Given the description of an element on the screen output the (x, y) to click on. 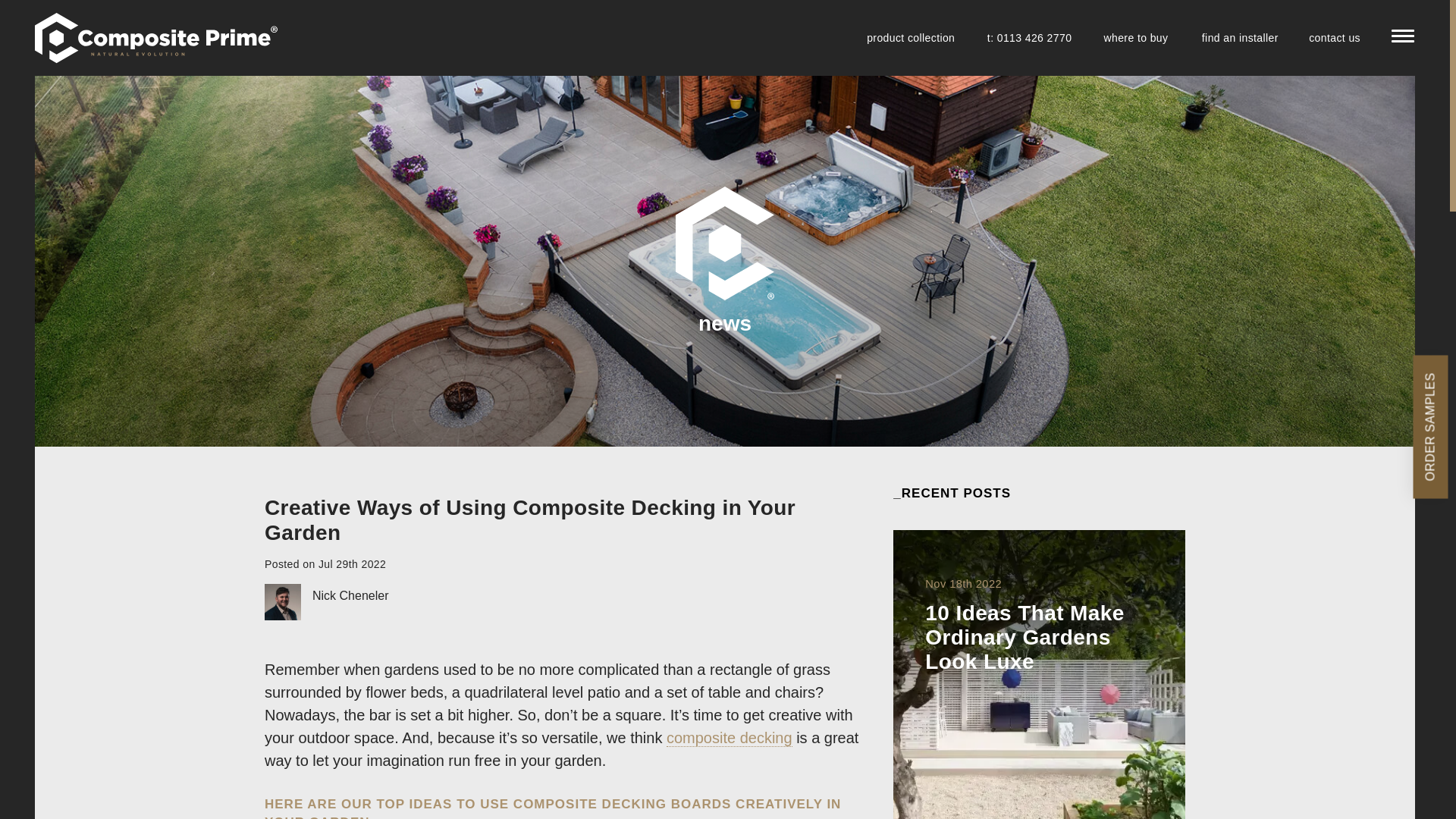
find an installer (1240, 38)
contact us (1334, 38)
where to buy (1135, 38)
product collection (911, 38)
Home (198, 37)
t: 0113 426 2770 (1029, 38)
